Given the description of an element on the screen output the (x, y) to click on. 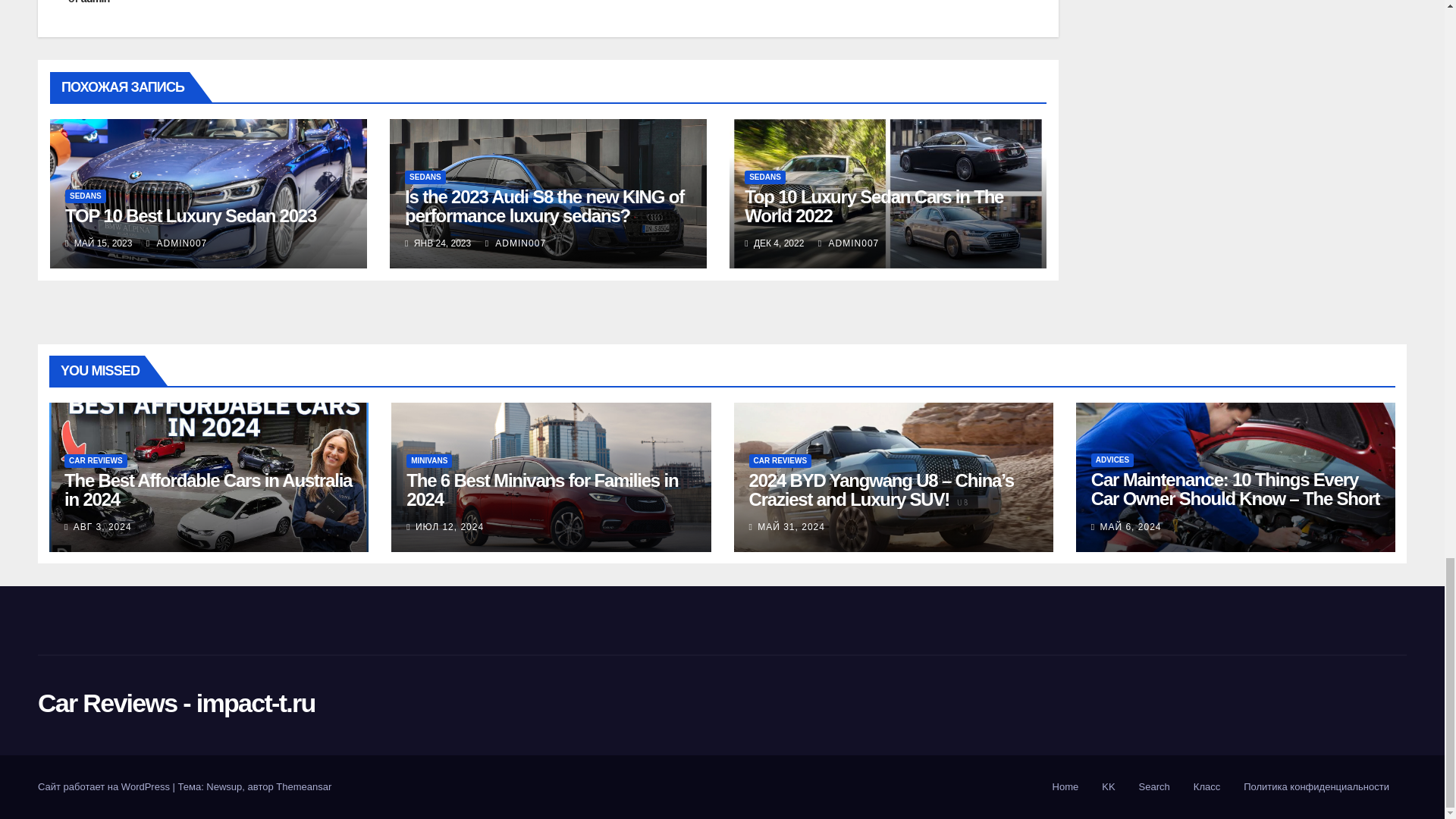
Permalink to: The Best Affordable Cars in Australia in 2024 (208, 489)
ADMIN007 (848, 243)
ADMIN007 (176, 243)
Permalink to: Top 10 Luxury Sedan Cars in The World 2022 (873, 206)
SEDANS (85, 196)
TOP 10 Best Luxury Sedan 2023 (190, 215)
admin (95, 2)
Permalink to: The 6 Best Minivans for Families in 2024 (542, 489)
Top 10 Luxury Sedan Cars in The World 2022 (873, 206)
